Given the description of an element on the screen output the (x, y) to click on. 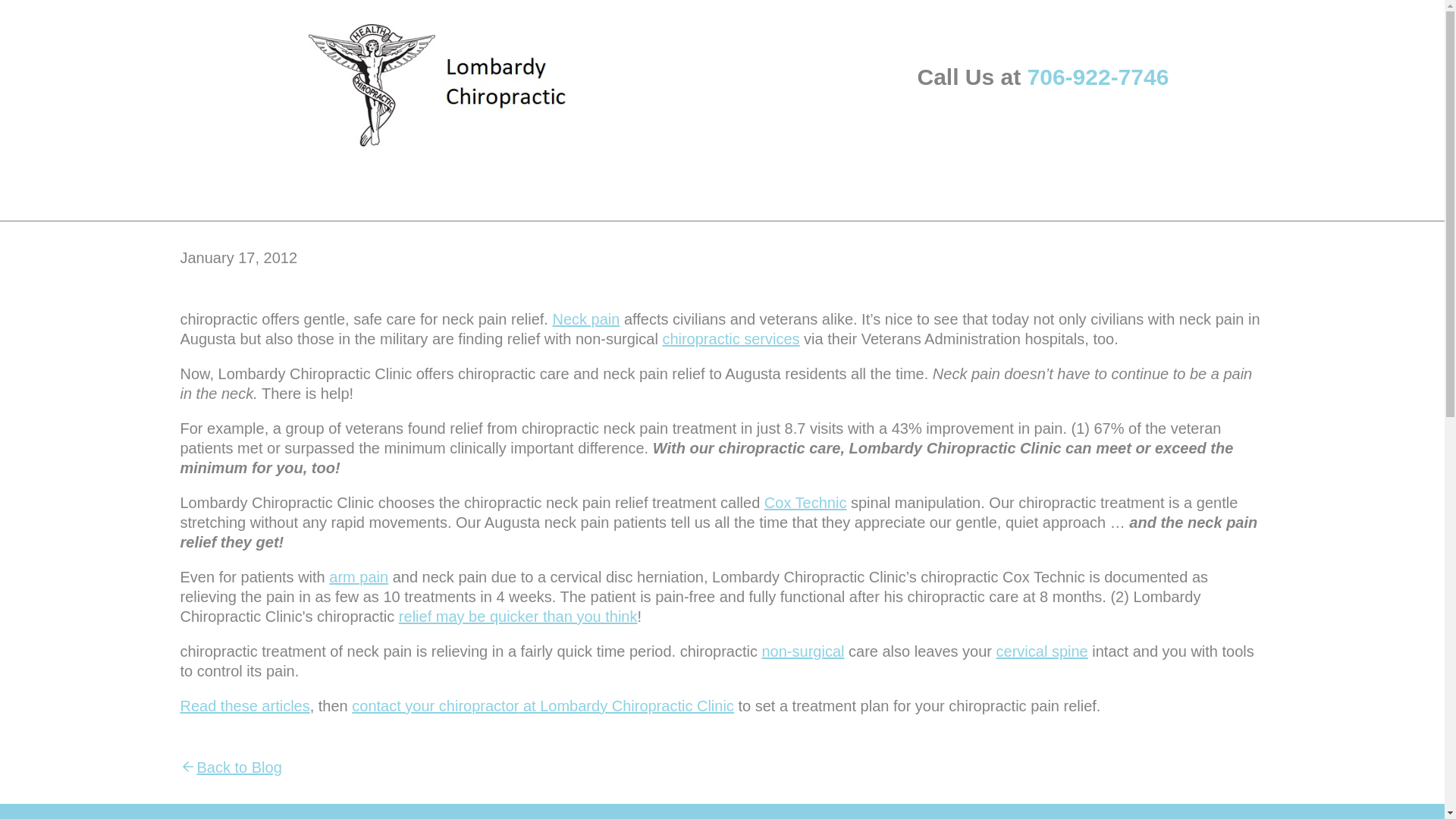
Lombardy Chiropractic Clinic Home (446, 84)
ID YOUR PAIN (344, 184)
GET RELIEF (459, 184)
706-922-7746 (1098, 76)
